Given the description of an element on the screen output the (x, y) to click on. 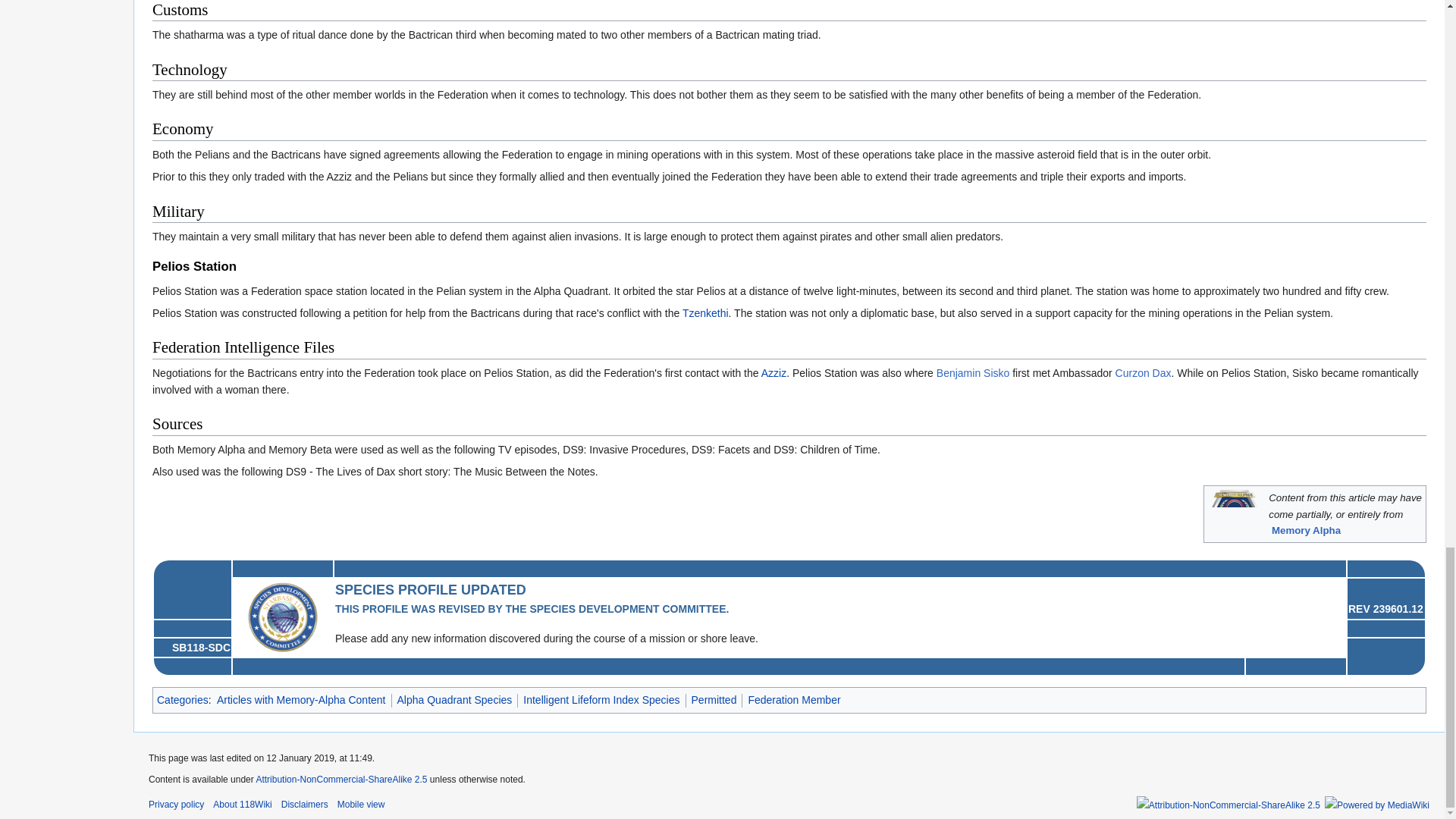
ma:Benjamin Sisko (973, 372)
Tzenkethi (705, 313)
Azziz (773, 372)
Curzon Dax (1143, 372)
Tzenkethi (705, 313)
Benjamin Sisko (973, 372)
Azziz (773, 372)
Special:Categories (182, 699)
ma:Curzon Dax (1143, 372)
ma:Main Page (1305, 530)
Memory Alpha (1305, 530)
Species Development Committee (282, 616)
